Given the description of an element on the screen output the (x, y) to click on. 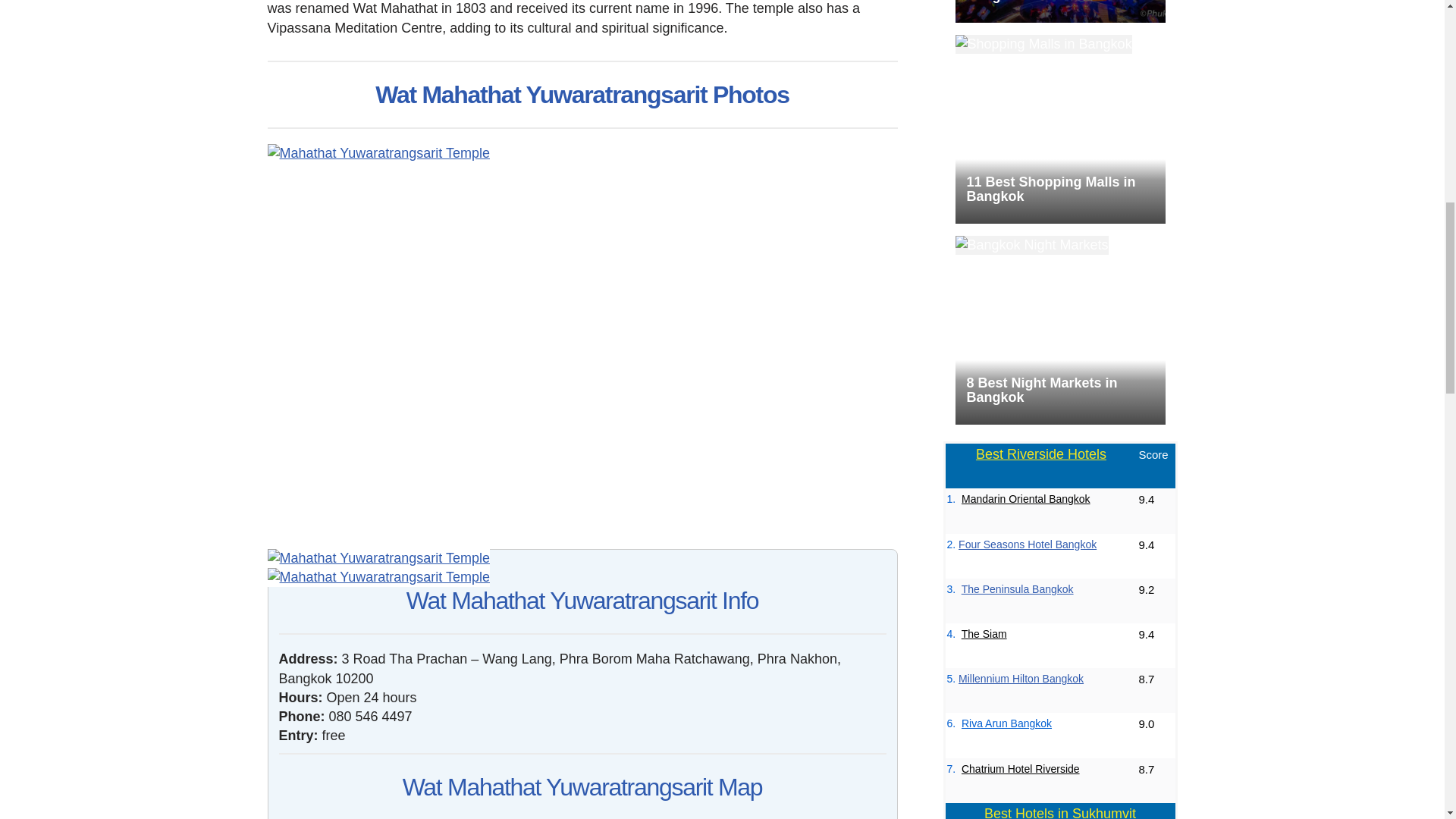
Mahathat Yuwaratrangsarit Temple (377, 153)
Mahathat Yuwaratrangsarit Temple (377, 577)
Mahathat Yuwaratrangsarit Temple (377, 558)
